Given the description of an element on the screen output the (x, y) to click on. 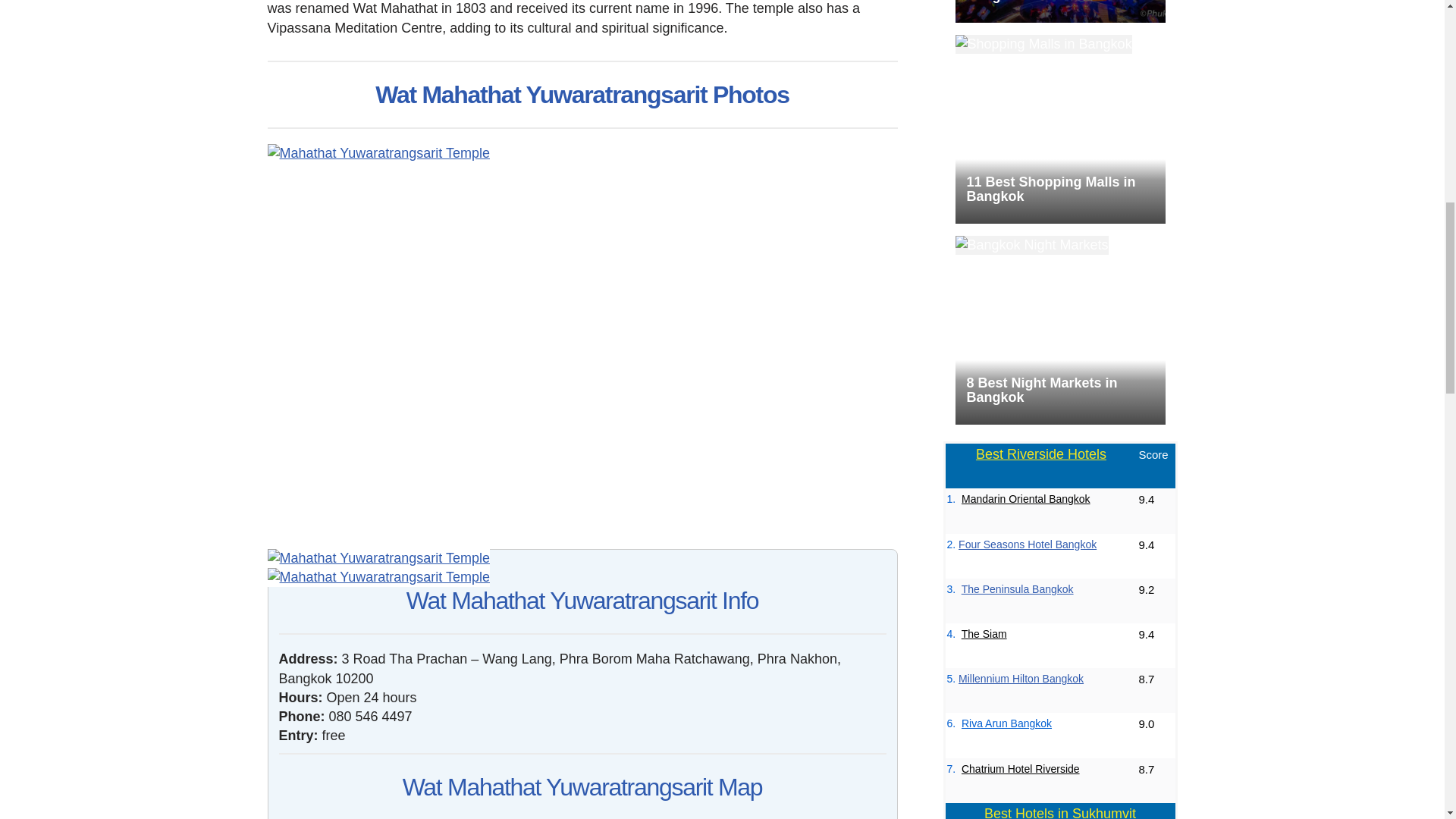
Mahathat Yuwaratrangsarit Temple (377, 153)
Mahathat Yuwaratrangsarit Temple (377, 577)
Mahathat Yuwaratrangsarit Temple (377, 558)
